Given the description of an element on the screen output the (x, y) to click on. 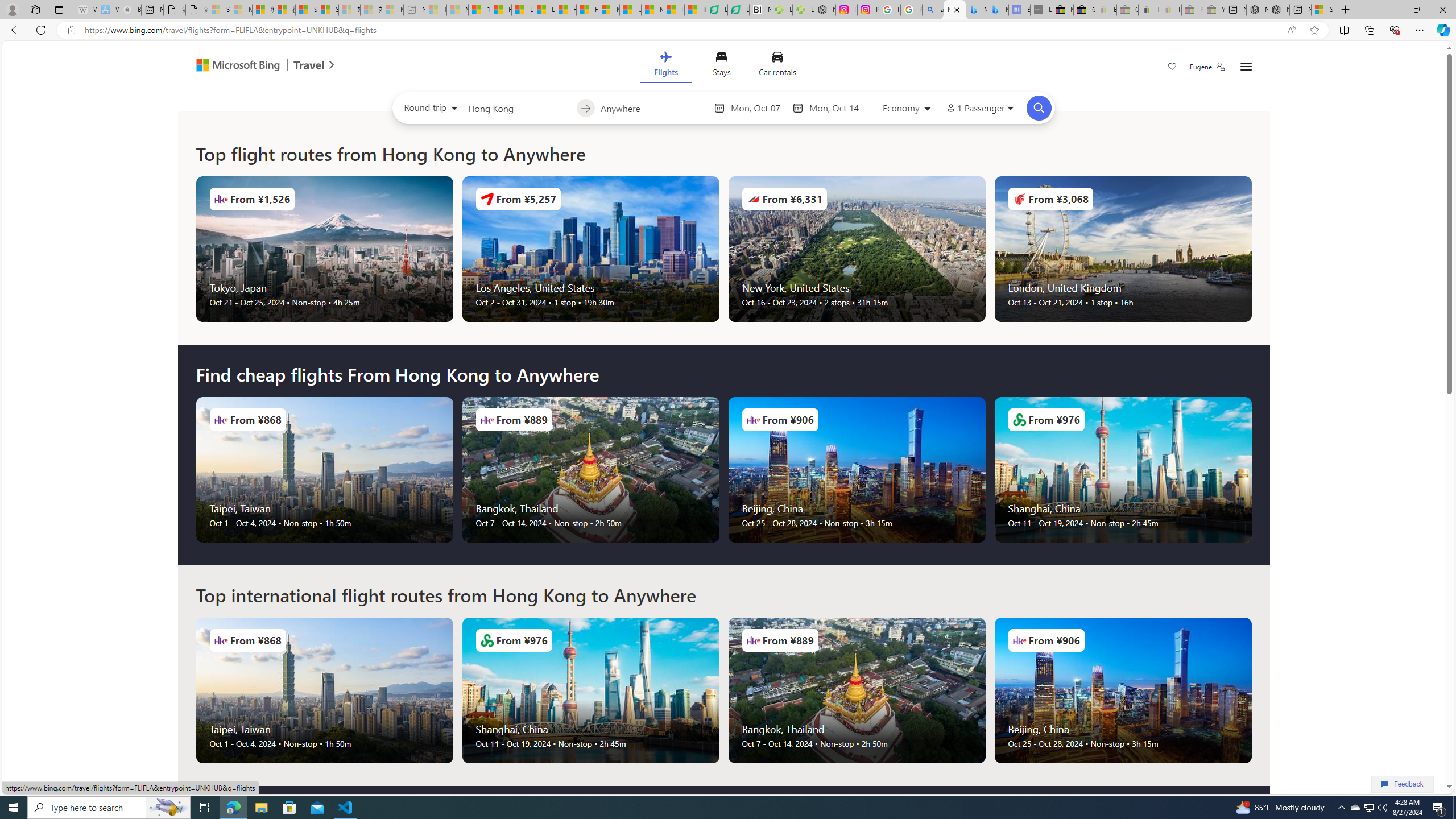
Payments Terms of Use | eBay.com - Sleeping (1170, 9)
Select class of service (906, 109)
Microsoft Services Agreement - Sleeping (241, 9)
Select trip type (428, 110)
Drinking tea every day is proven to delay biological aging (543, 9)
Stays (720, 65)
